Given the description of an element on the screen output the (x, y) to click on. 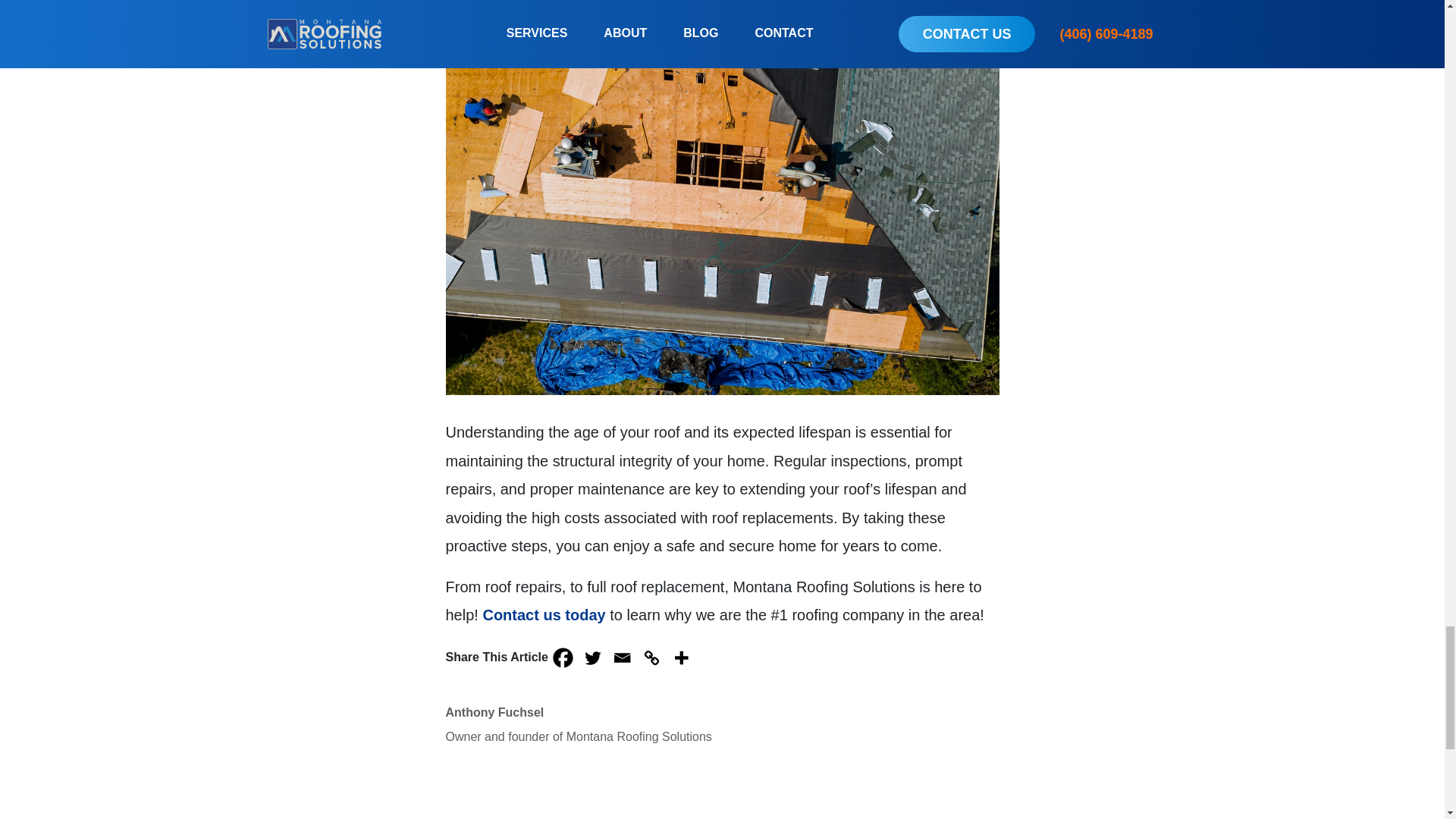
Contact us today (543, 614)
Twitter (592, 657)
More (681, 657)
Facebook (563, 657)
Email (621, 657)
Copy Link (652, 657)
